Given the description of an element on the screen output the (x, y) to click on. 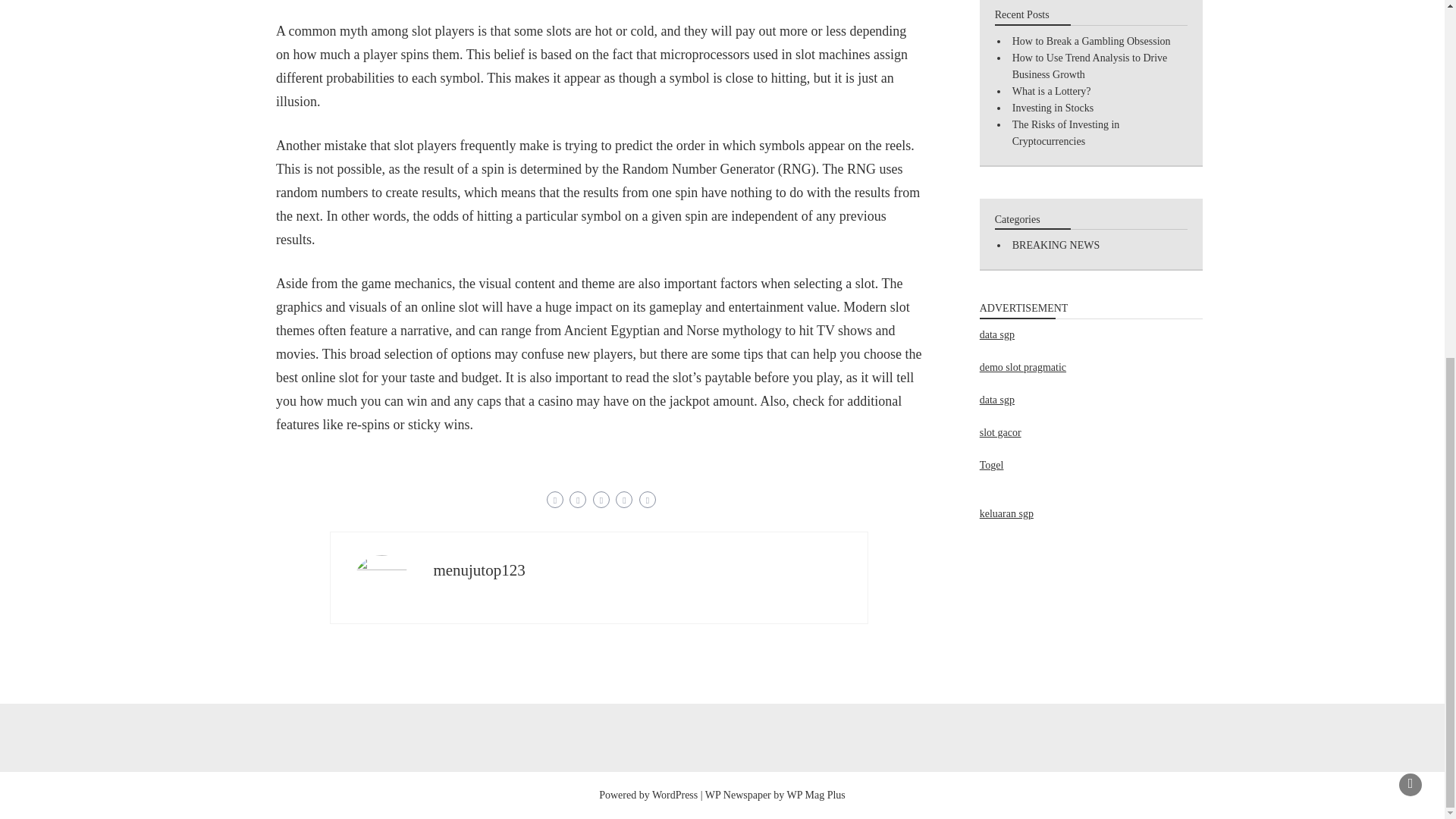
menujutop123 (478, 570)
